Given the description of an element on the screen output the (x, y) to click on. 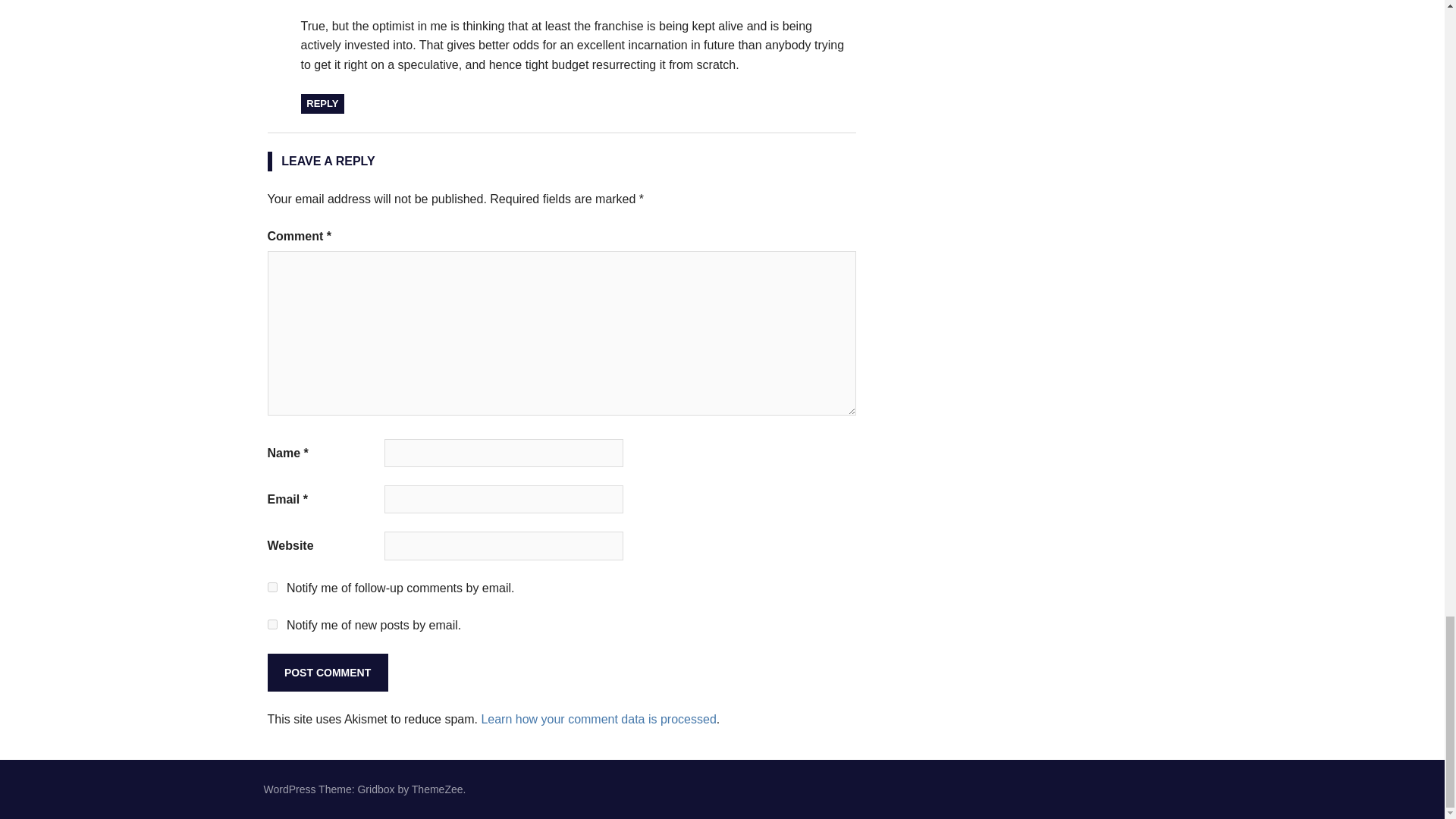
Post Comment (326, 672)
Learn how your comment data is processed (598, 718)
subscribe (271, 624)
Post Comment (326, 672)
REPLY (321, 103)
subscribe (271, 587)
